Given the description of an element on the screen output the (x, y) to click on. 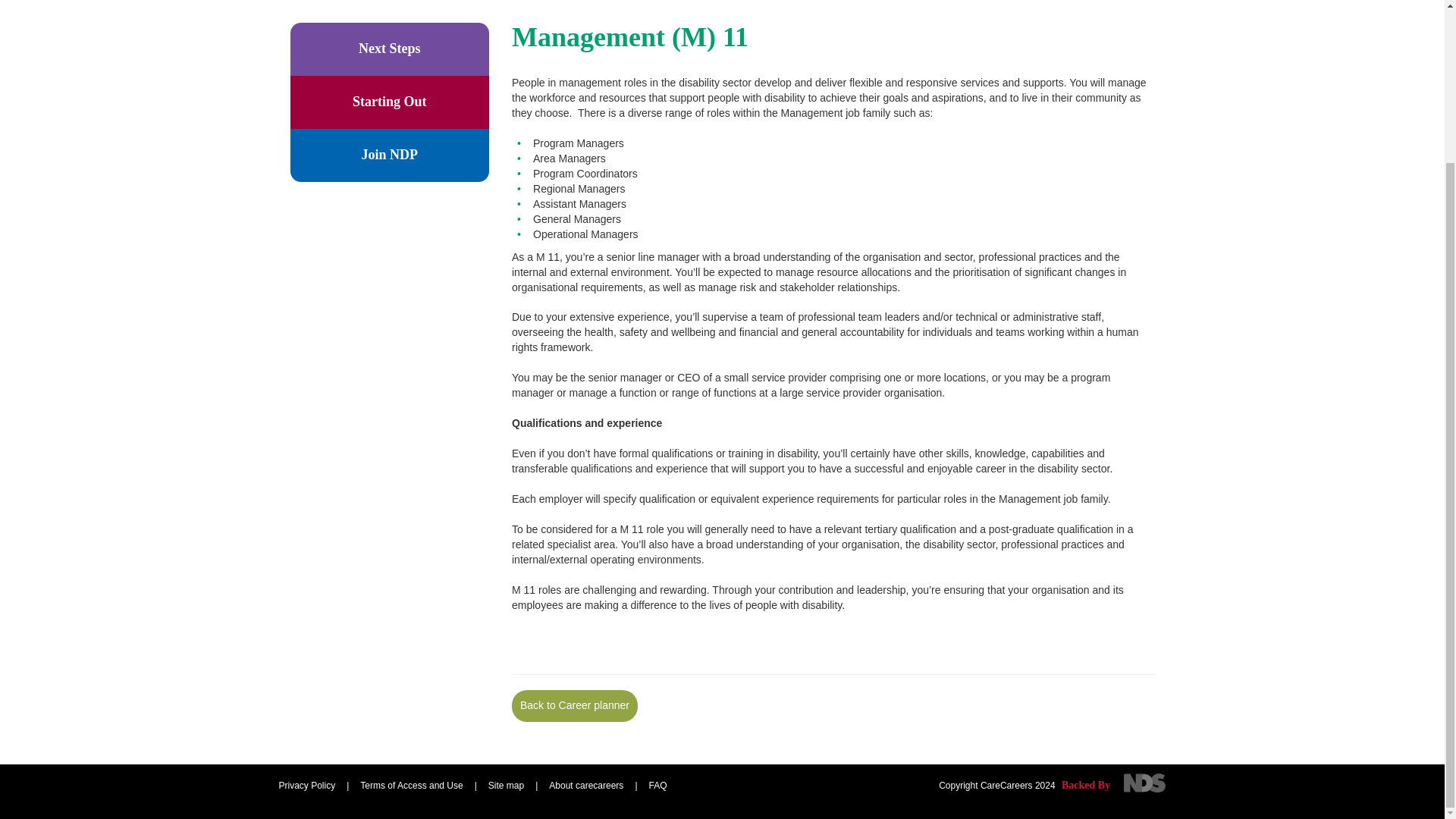
About carecareers (585, 785)
Starting Out (389, 102)
FAQ (657, 785)
Back to Career planner (574, 705)
Join NDP (389, 154)
Privacy Policy (307, 785)
Site map (505, 785)
Next Steps (389, 49)
Terms of Access and Use (411, 785)
